Given the description of an element on the screen output the (x, y) to click on. 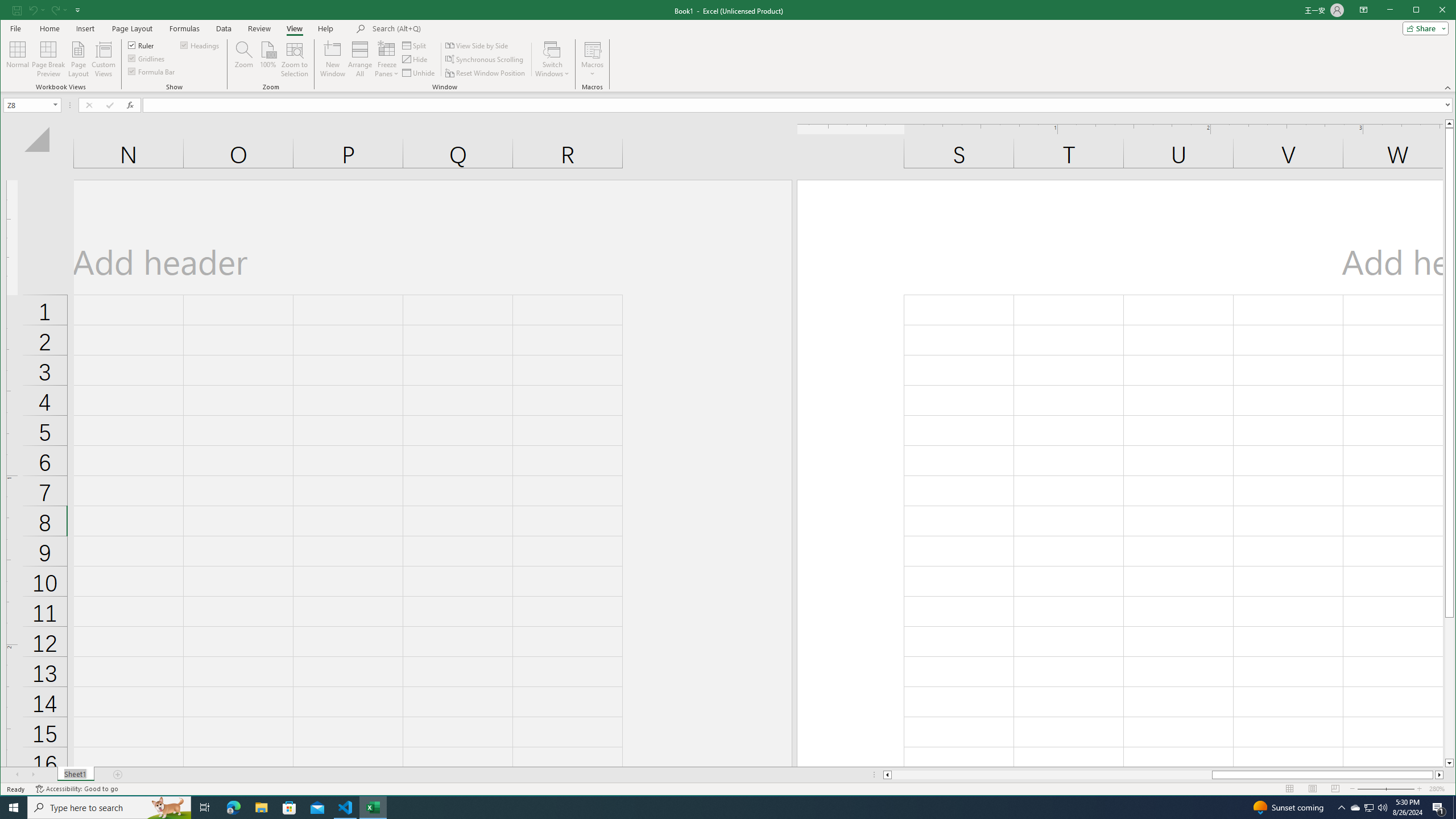
Macros (592, 59)
New Window (332, 59)
Action Center, 1 new notification (1439, 807)
View Side by Side (478, 45)
Freeze Panes (387, 59)
